Given the description of an element on the screen output the (x, y) to click on. 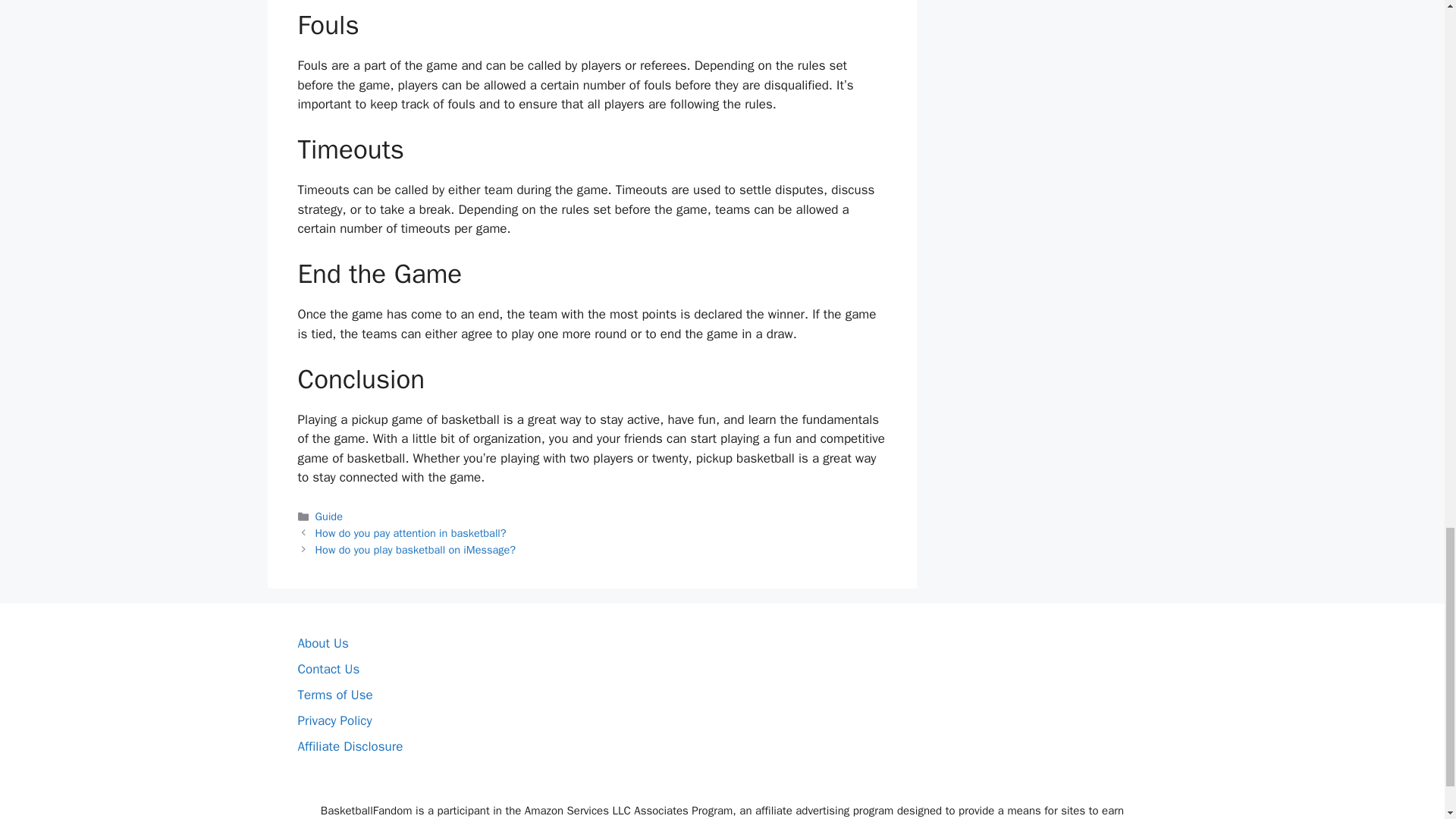
Privacy Policy (334, 720)
How do you play basketball on iMessage? (415, 549)
Contact Us (328, 668)
About Us (322, 643)
How do you pay attention in basketball? (410, 532)
Terms of Use (334, 694)
Affiliate Disclosure (350, 746)
Guide (328, 516)
